Given the description of an element on the screen output the (x, y) to click on. 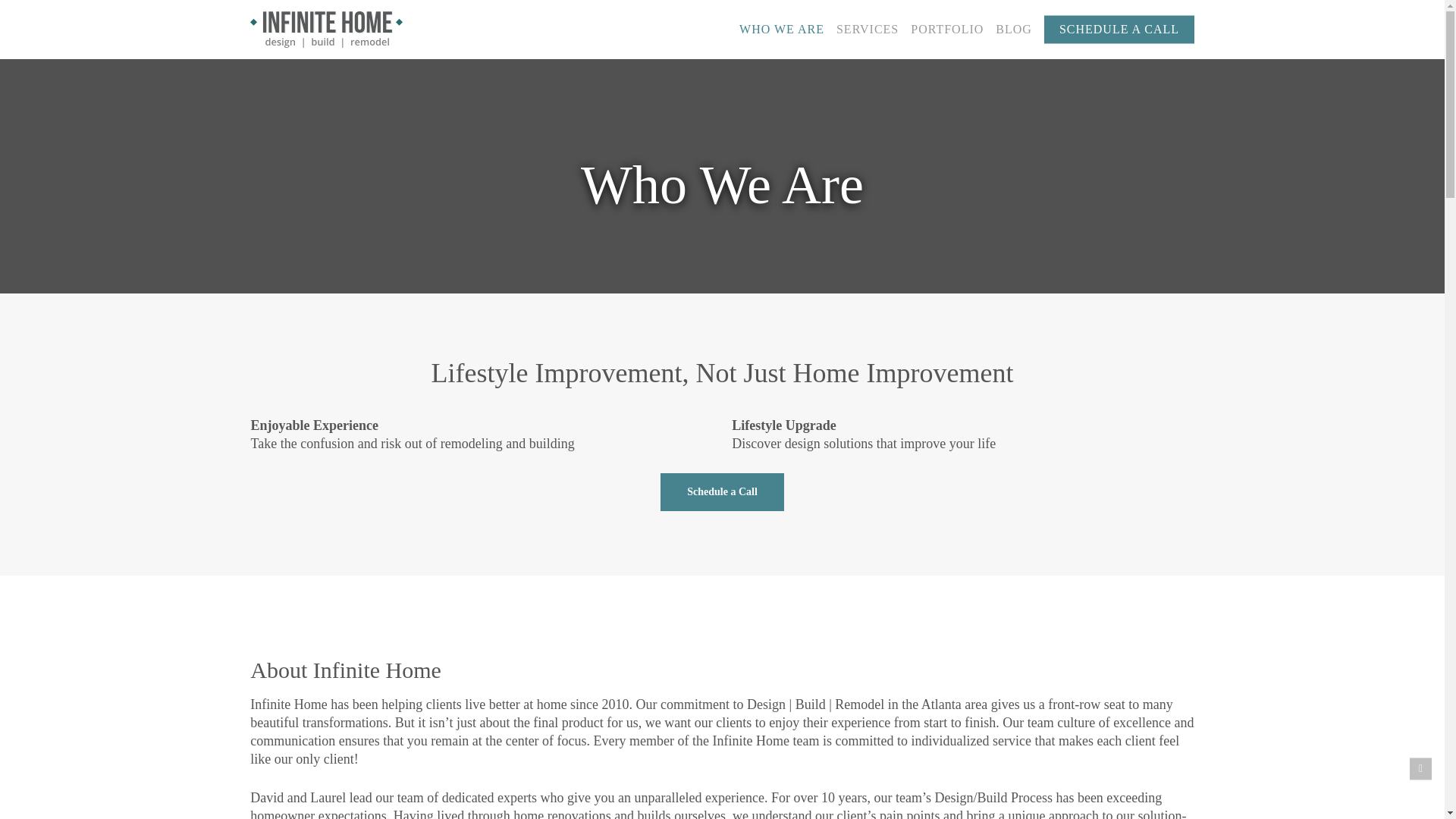
WHO WE ARE (781, 29)
BLOG (1014, 29)
SERVICES (866, 29)
Schedule a Call (722, 492)
SCHEDULE A CALL (1118, 29)
PORTFOLIO (947, 29)
